Given the description of an element on the screen output the (x, y) to click on. 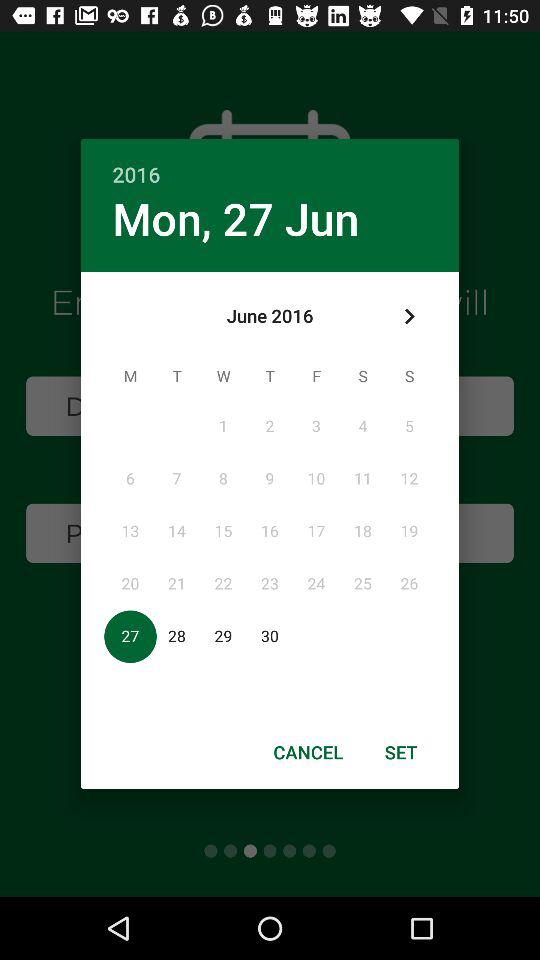
swipe to the 2016 icon (269, 163)
